Given the description of an element on the screen output the (x, y) to click on. 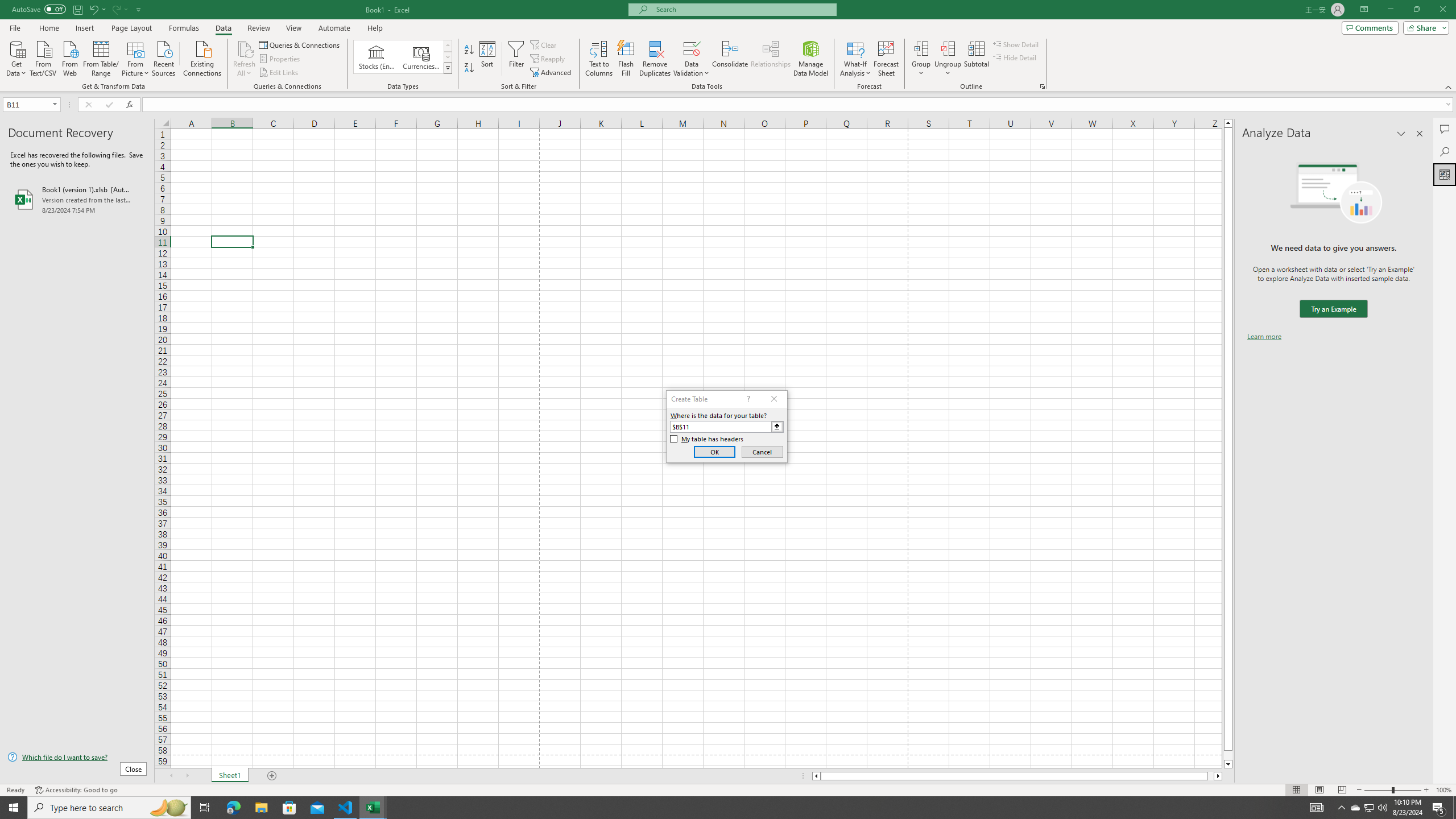
Manage Data Model (810, 58)
Close pane (1419, 133)
Accessibility Checker Accessibility: Good to go (76, 790)
Page down (1228, 755)
Class: NetUIImage (447, 68)
Data Validation... (691, 58)
Learn more (1264, 336)
Undo (96, 9)
Microsoft search (742, 9)
Zoom (1392, 790)
Advanced... (551, 72)
Share (1423, 27)
Home (48, 28)
Hide Detail (1014, 56)
Comments (1369, 27)
